Given the description of an element on the screen output the (x, y) to click on. 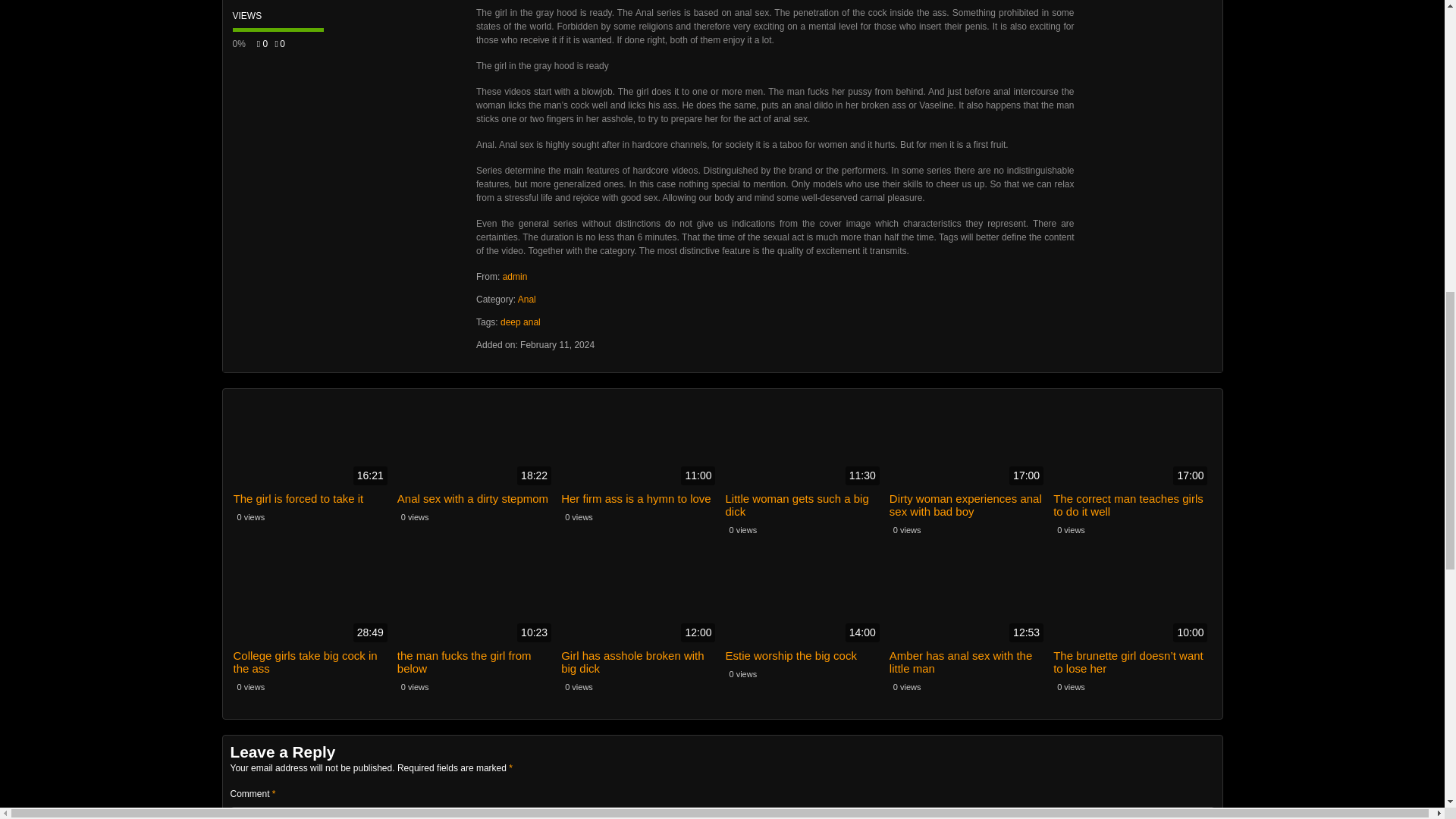
18:22 (475, 443)
17:00 (1131, 443)
Anal sex with a dirty stepmom (475, 498)
Little woman gets such a big dick (803, 504)
Dirty woman experiences anal sex with bad boy (967, 504)
deep anal (520, 321)
11:00 (639, 443)
17:00 (967, 443)
Her firm ass is a hymn to love (639, 498)
Anal (526, 299)
admin (514, 276)
The girl is forced to take it (311, 498)
11:30 (803, 443)
16:21 (311, 443)
